Given the description of an element on the screen output the (x, y) to click on. 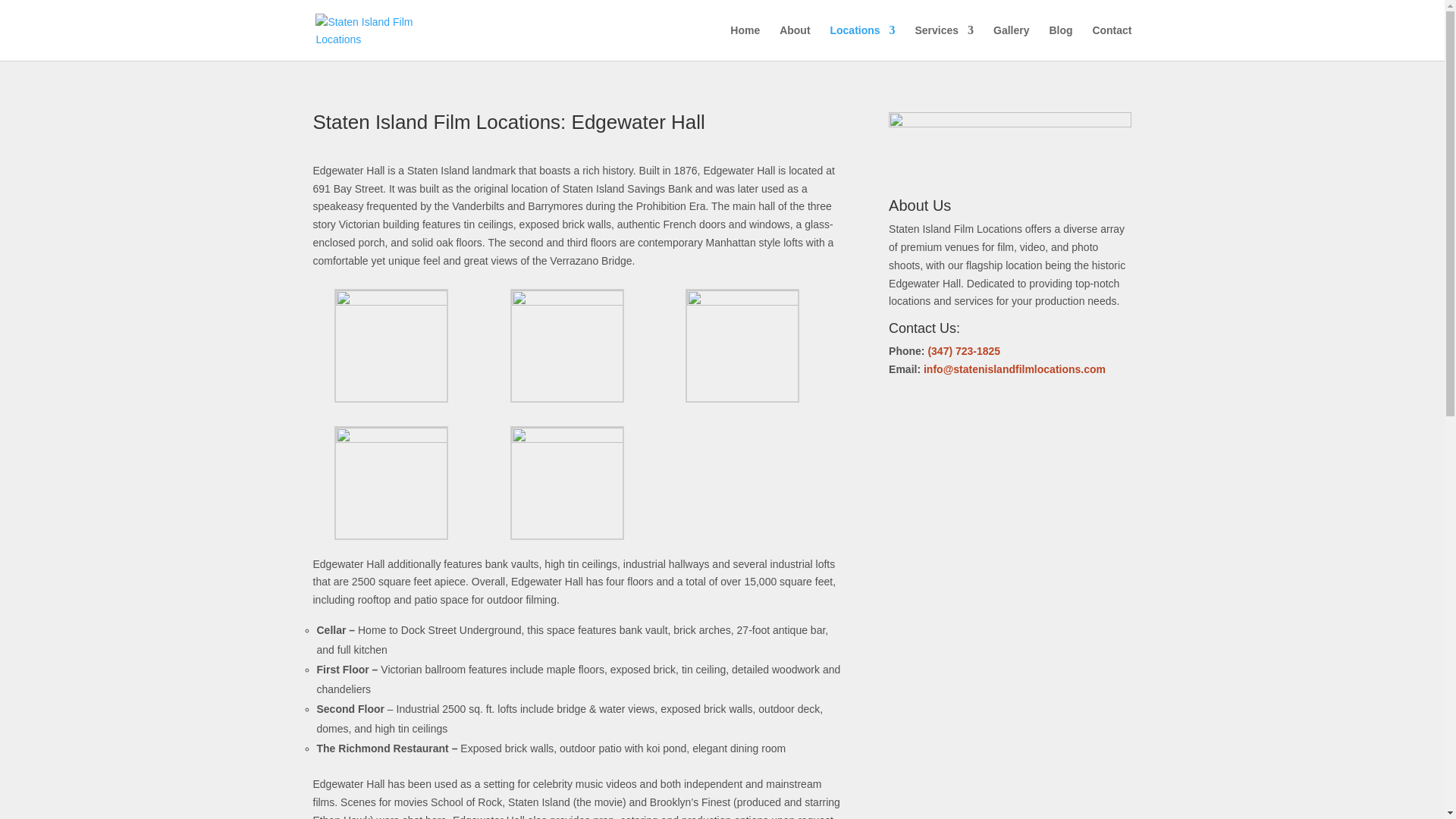
si-film-locations-logo-2023 (1009, 143)
Contact (1111, 42)
Locations (862, 42)
Gallery (1010, 42)
Services (944, 42)
